Given the description of an element on the screen output the (x, y) to click on. 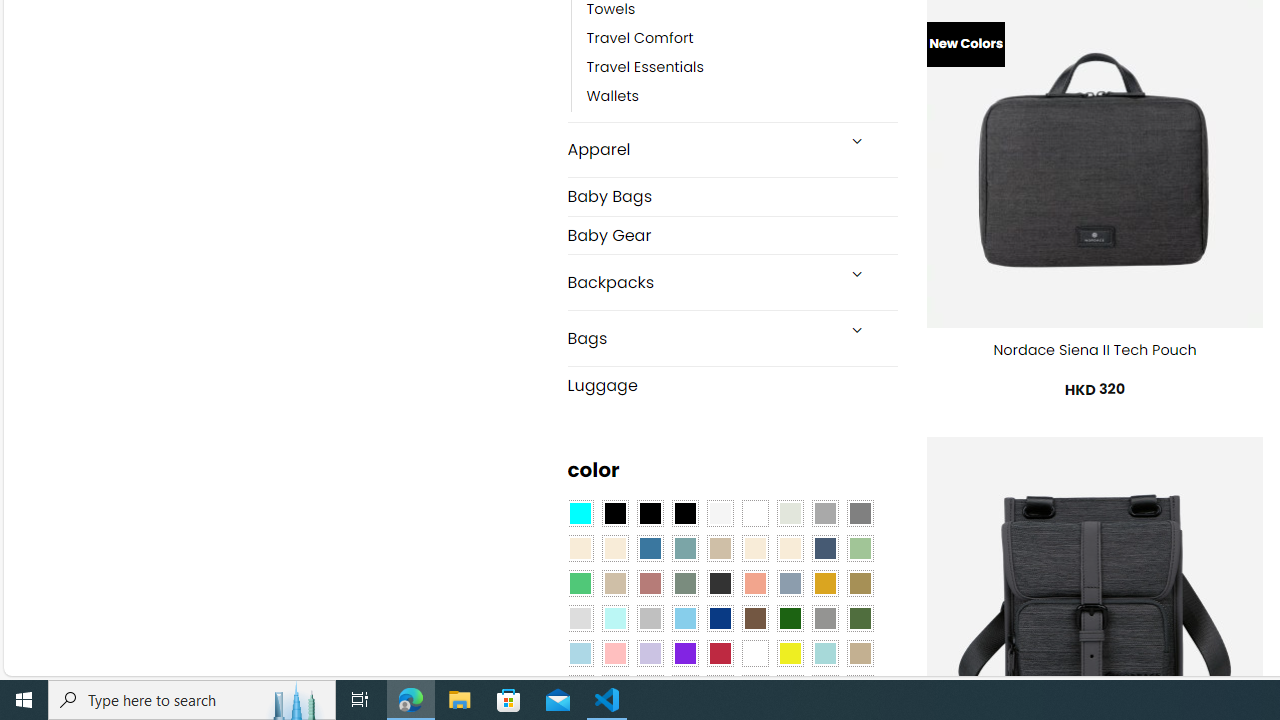
Red (719, 653)
Gold (824, 583)
Black-Brown (684, 514)
Light Green (859, 548)
Kelp (859, 583)
Bags (700, 337)
Gray (824, 619)
Rose (650, 583)
Beige (579, 548)
Green (859, 619)
Clear (755, 514)
Charcoal (719, 583)
Hale Navy (824, 548)
Light Blue (579, 653)
